Given the description of an element on the screen output the (x, y) to click on. 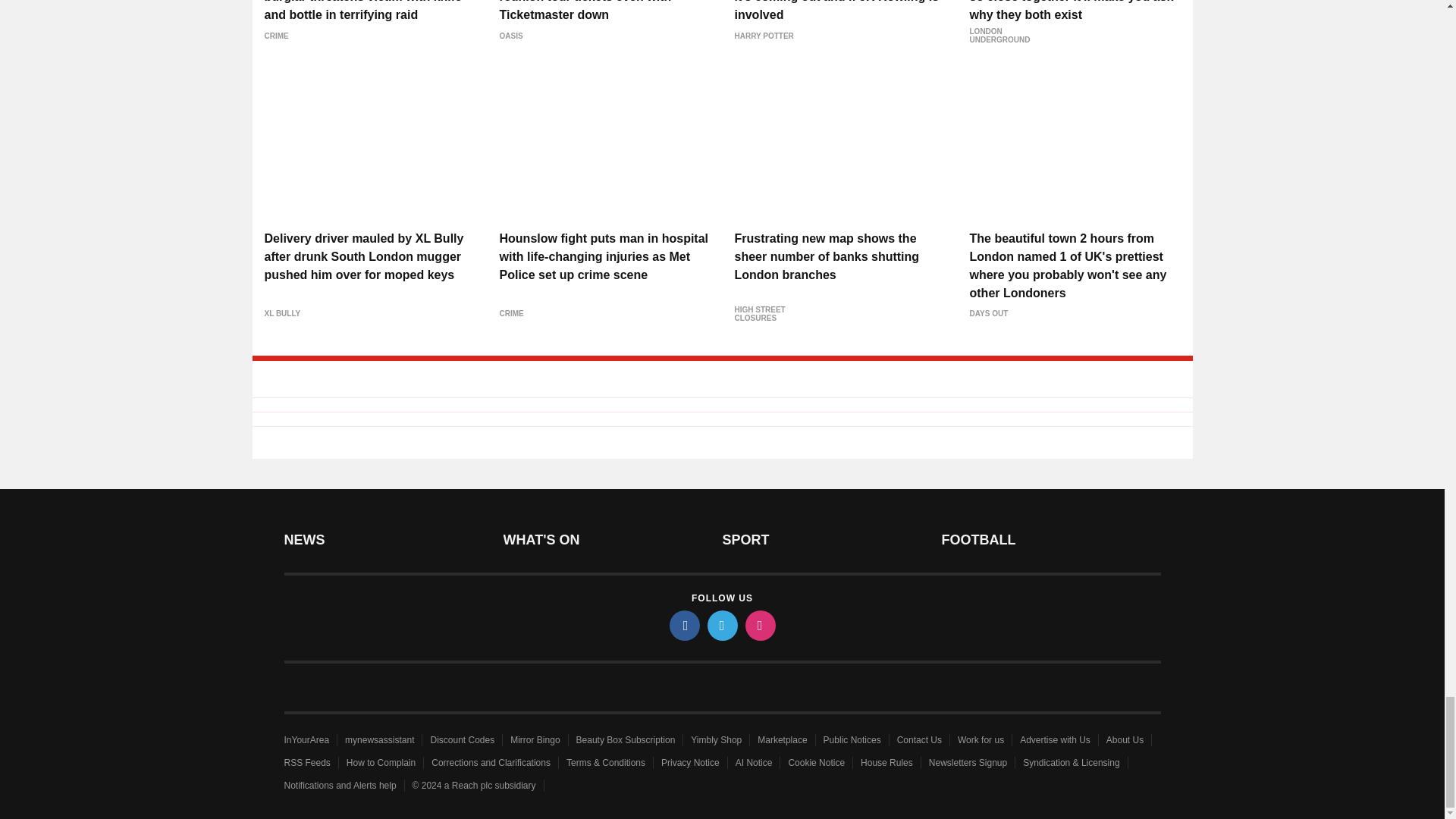
instagram (759, 625)
twitter (721, 625)
facebook (683, 625)
